Given the description of an element on the screen output the (x, y) to click on. 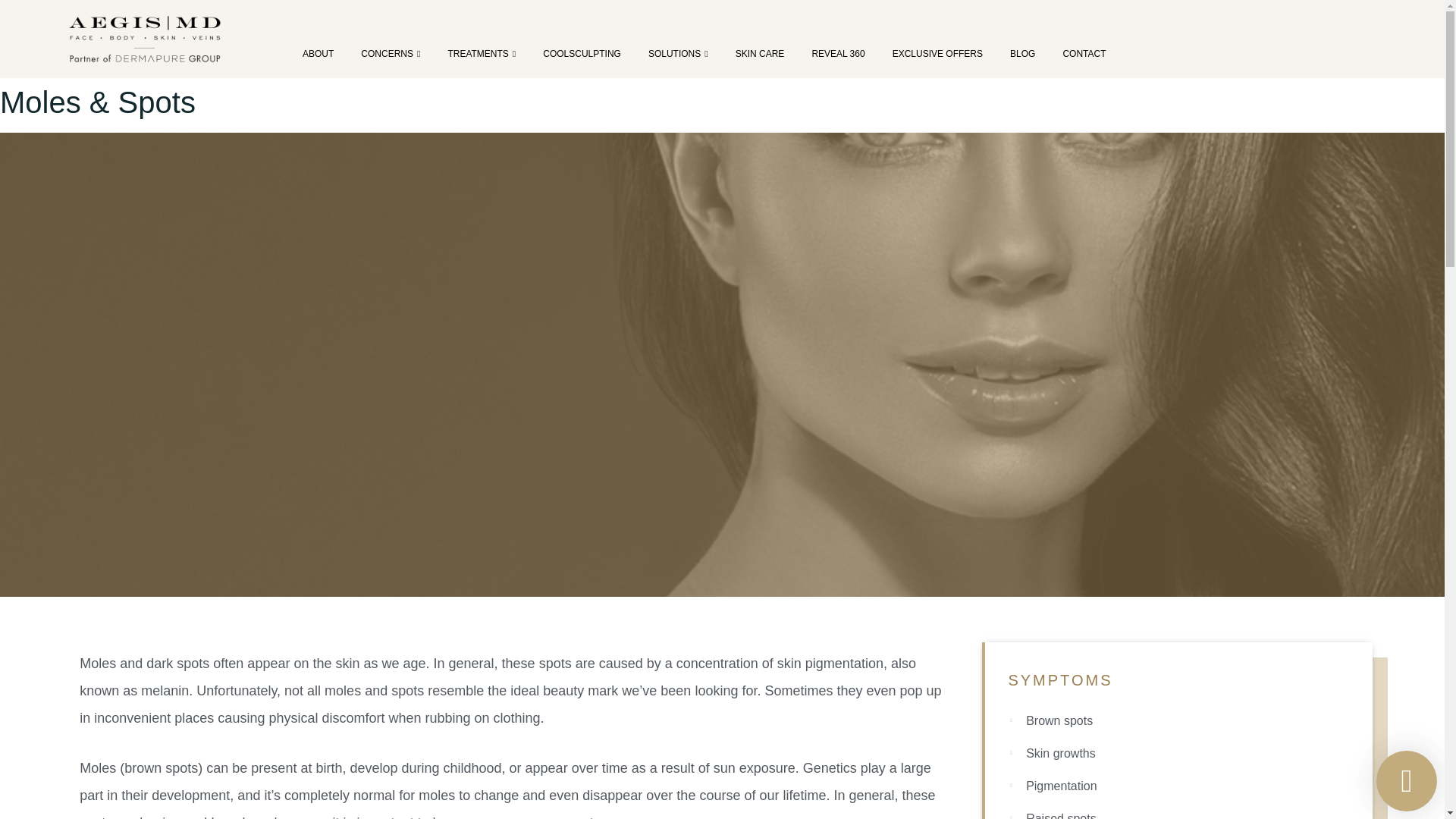
ABOUT (317, 53)
CONCERNS (390, 53)
